Given the description of an element on the screen output the (x, y) to click on. 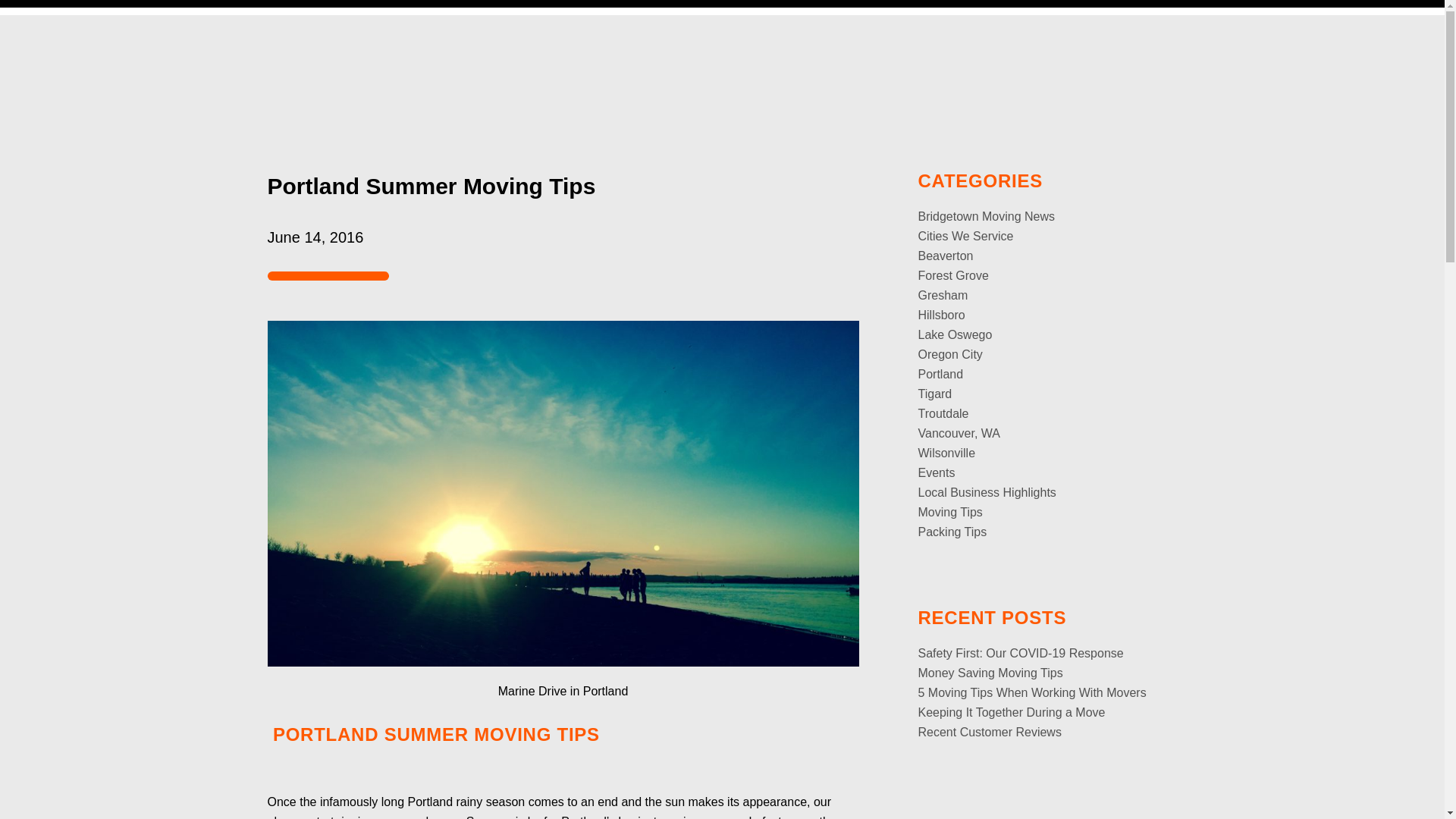
Bridgetown Moving News (985, 215)
Beaverton (944, 255)
Cities We Service (965, 236)
